Given the description of an element on the screen output the (x, y) to click on. 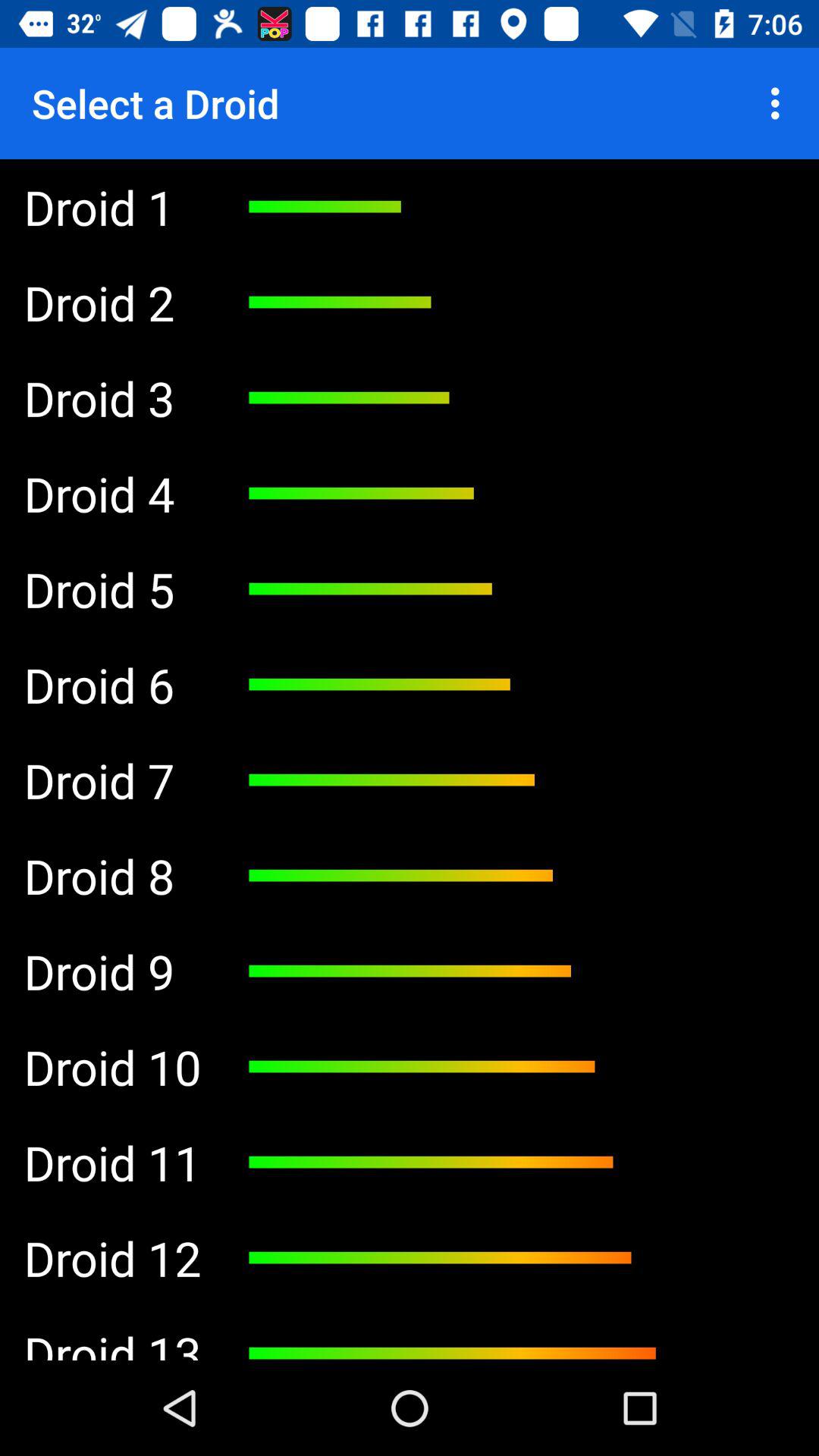
launch the droid 1 item (112, 206)
